Given the description of an element on the screen output the (x, y) to click on. 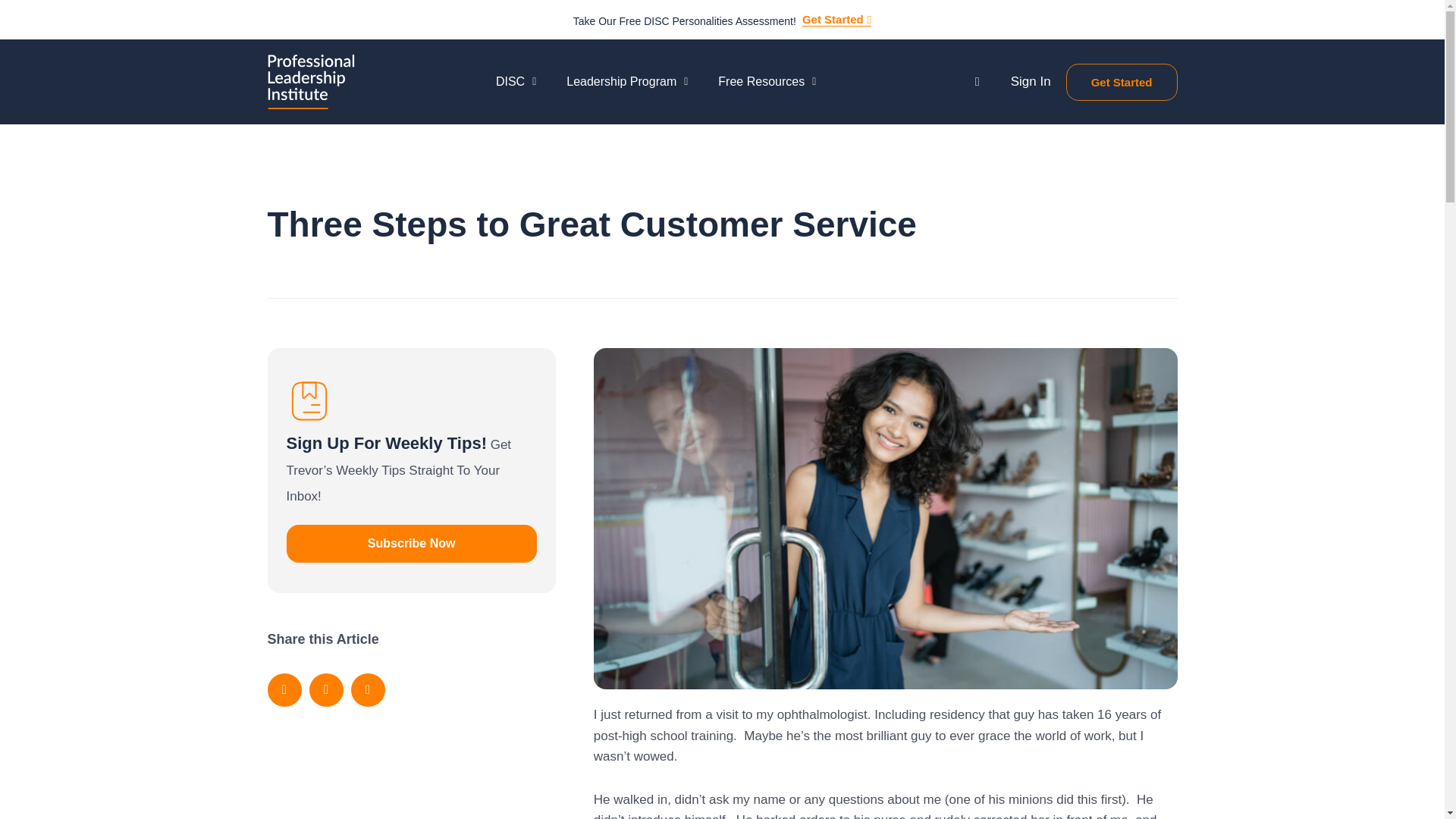
Get Started (1121, 81)
DISC (515, 81)
Take Our Free DISC Personalities Assessment! (684, 21)
Leadership Program (627, 81)
Free Resources (767, 81)
Sign In (1030, 81)
Get Started (836, 19)
